Given the description of an element on the screen output the (x, y) to click on. 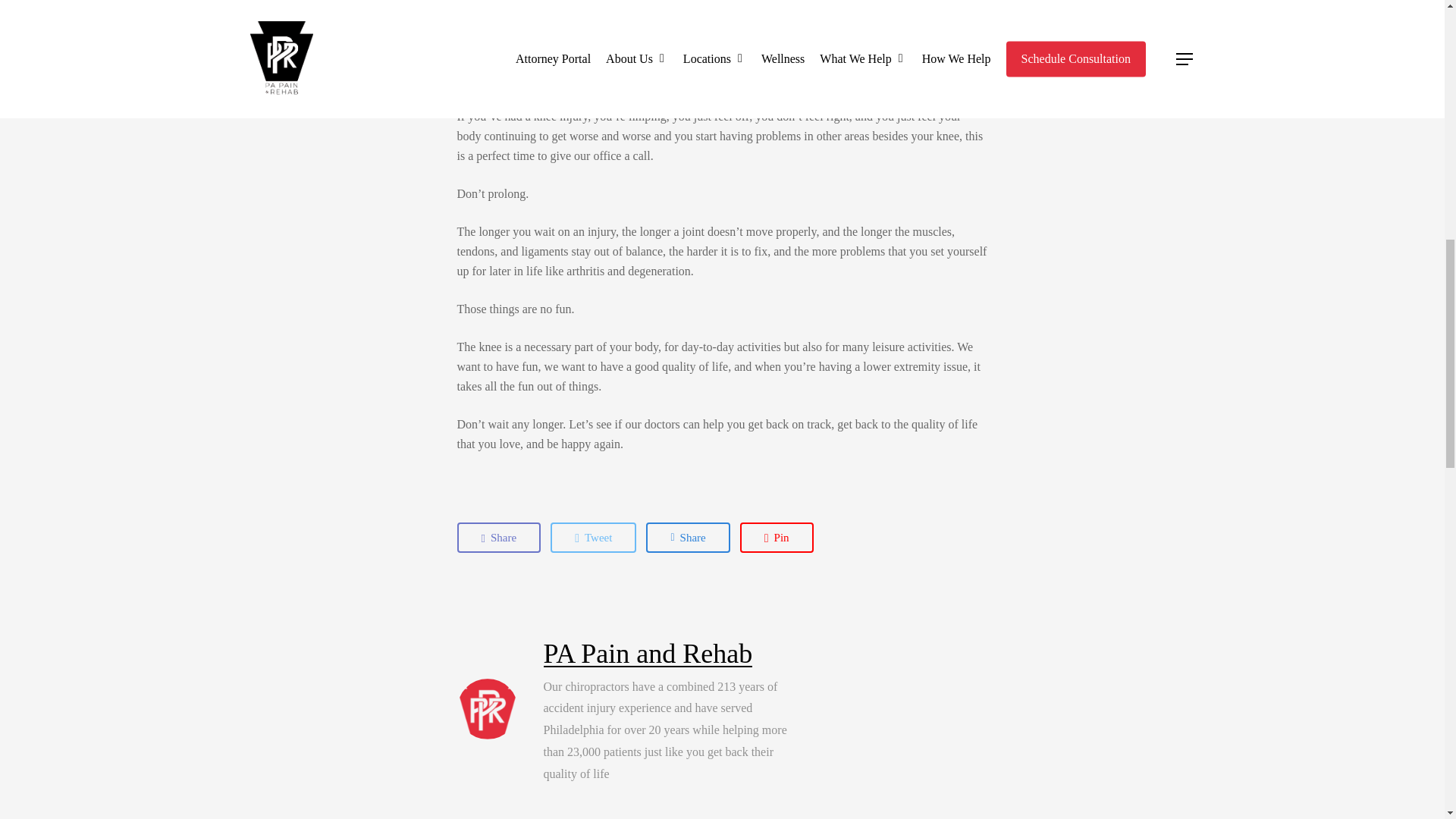
Share (498, 537)
Share this (498, 537)
Pin this (776, 537)
Tweet (593, 537)
Tweet this (593, 537)
Share this (687, 537)
